Given the description of an element on the screen output the (x, y) to click on. 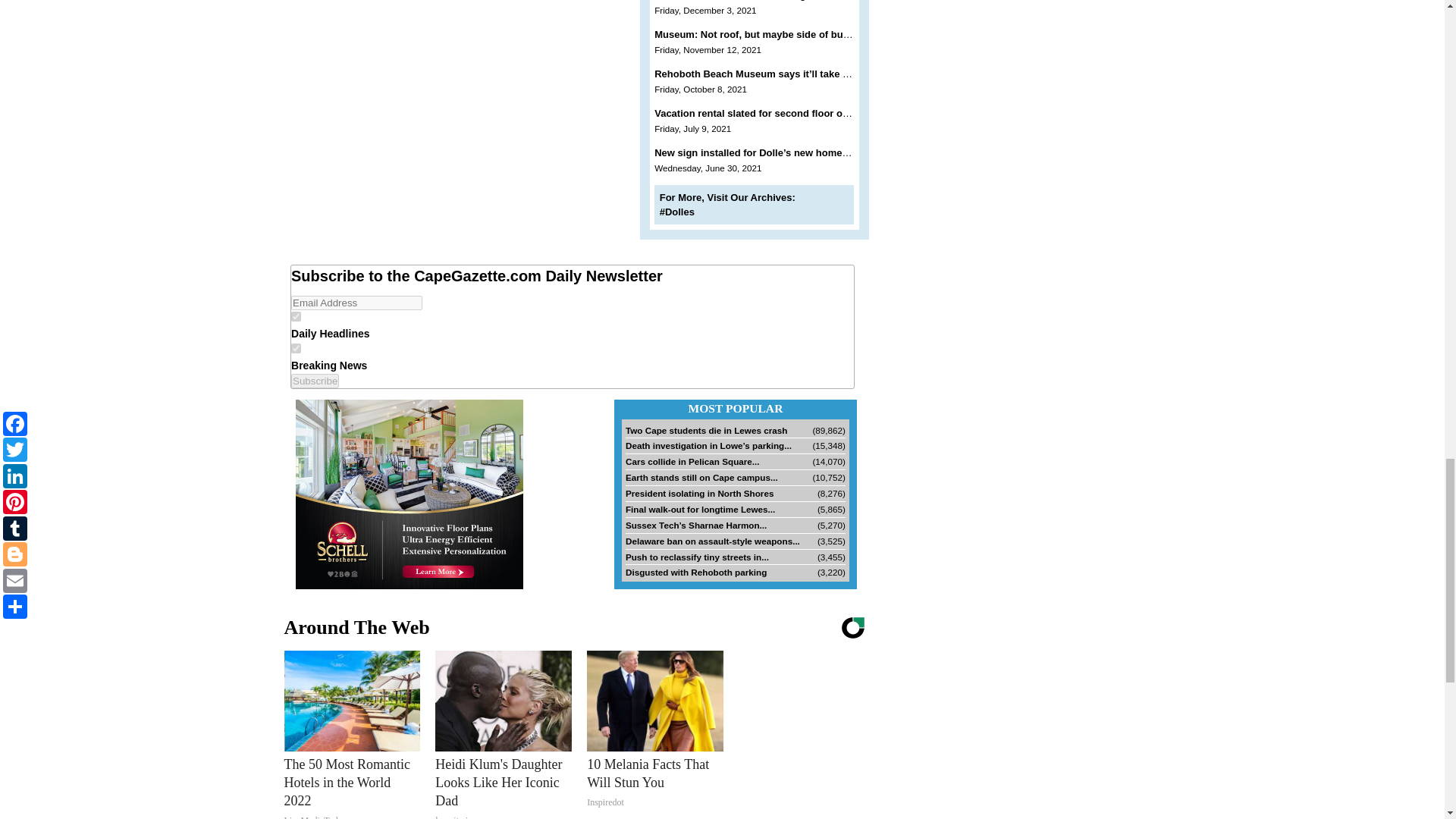
1 (296, 316)
2 (296, 347)
Subscribe (315, 380)
